Given the description of an element on the screen output the (x, y) to click on. 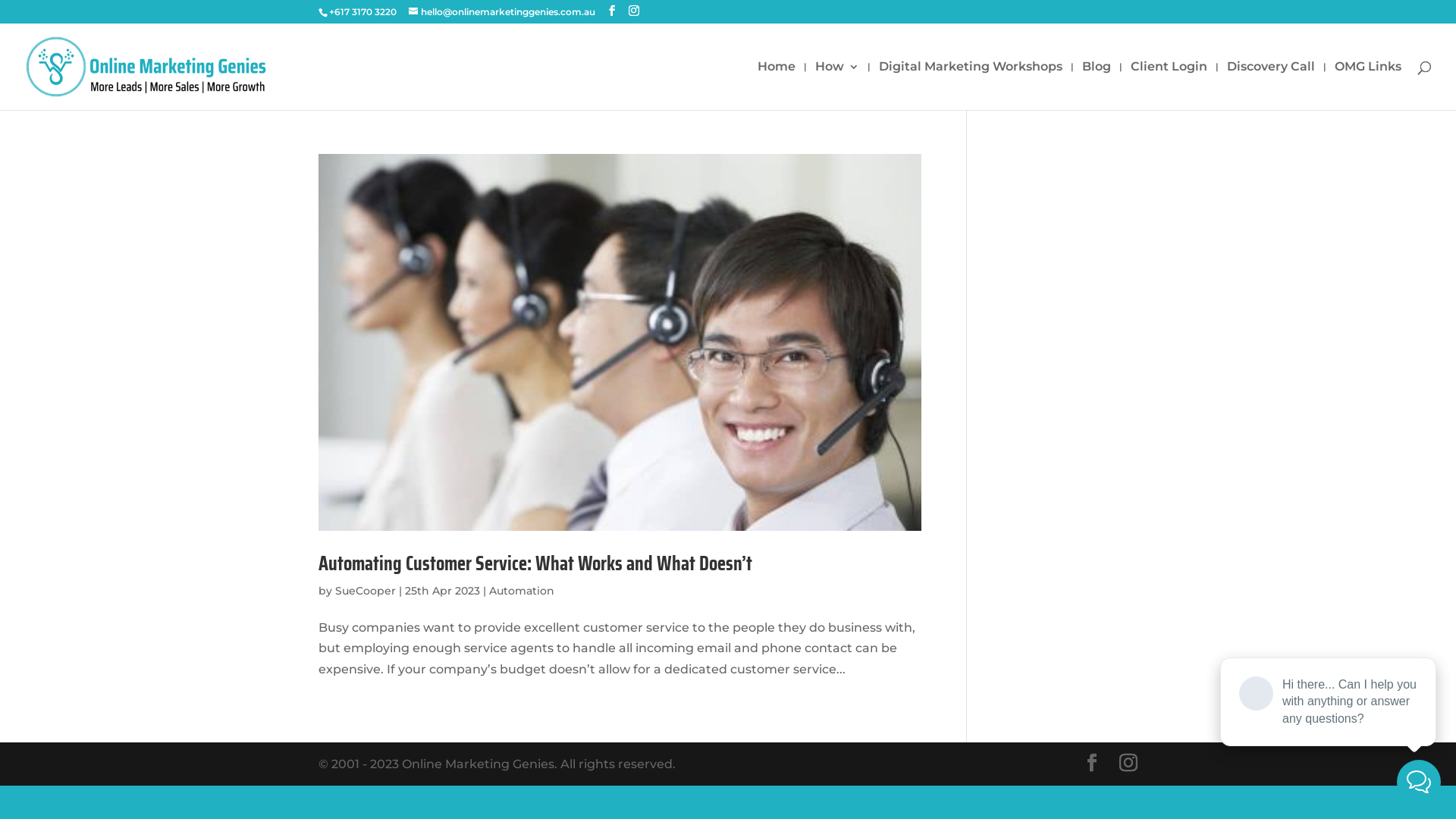
OMG Links Element type: text (1367, 85)
How Element type: text (837, 85)
Automation Element type: text (521, 590)
hello@onlinemarketinggenies.com.au Element type: text (501, 11)
Client Login Element type: text (1168, 85)
Digital Marketing Workshops Element type: text (970, 85)
Discovery Call Element type: text (1270, 85)
SueCooper Element type: text (365, 590)
Blog Element type: text (1096, 85)
Home Element type: text (776, 85)
+617 3170 3220 Element type: text (362, 11)
